Given the description of an element on the screen output the (x, y) to click on. 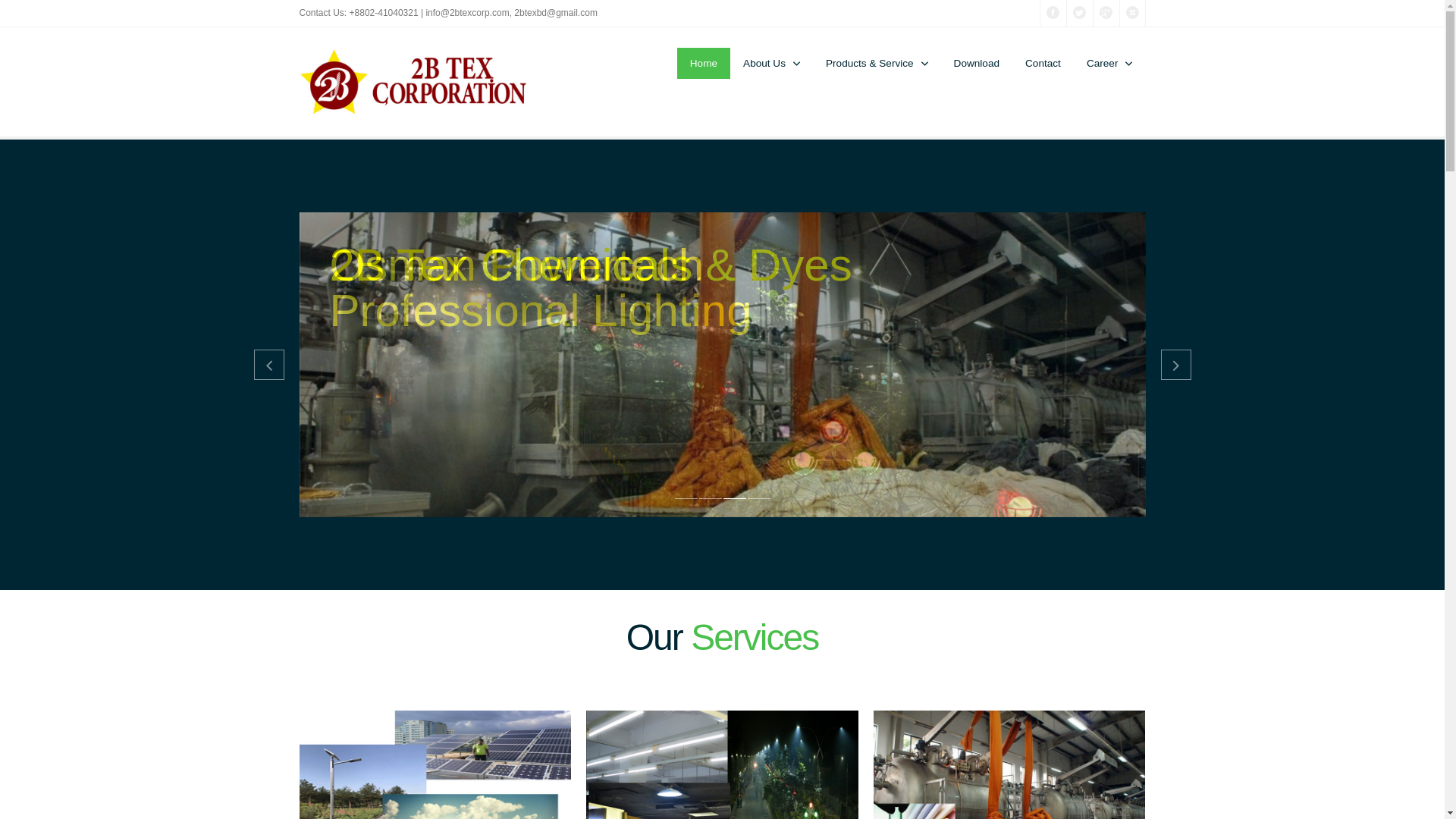
Home Element type: text (703, 62)
Career Element type: text (1109, 62)
Products & Service Element type: text (876, 62)
info@2btexcorp.com, 2btexbd@gmail.com Element type: text (510, 12)
Contact Element type: text (1042, 62)
Download Element type: text (976, 62)
About Us Element type: text (771, 62)
